Given the description of an element on the screen output the (x, y) to click on. 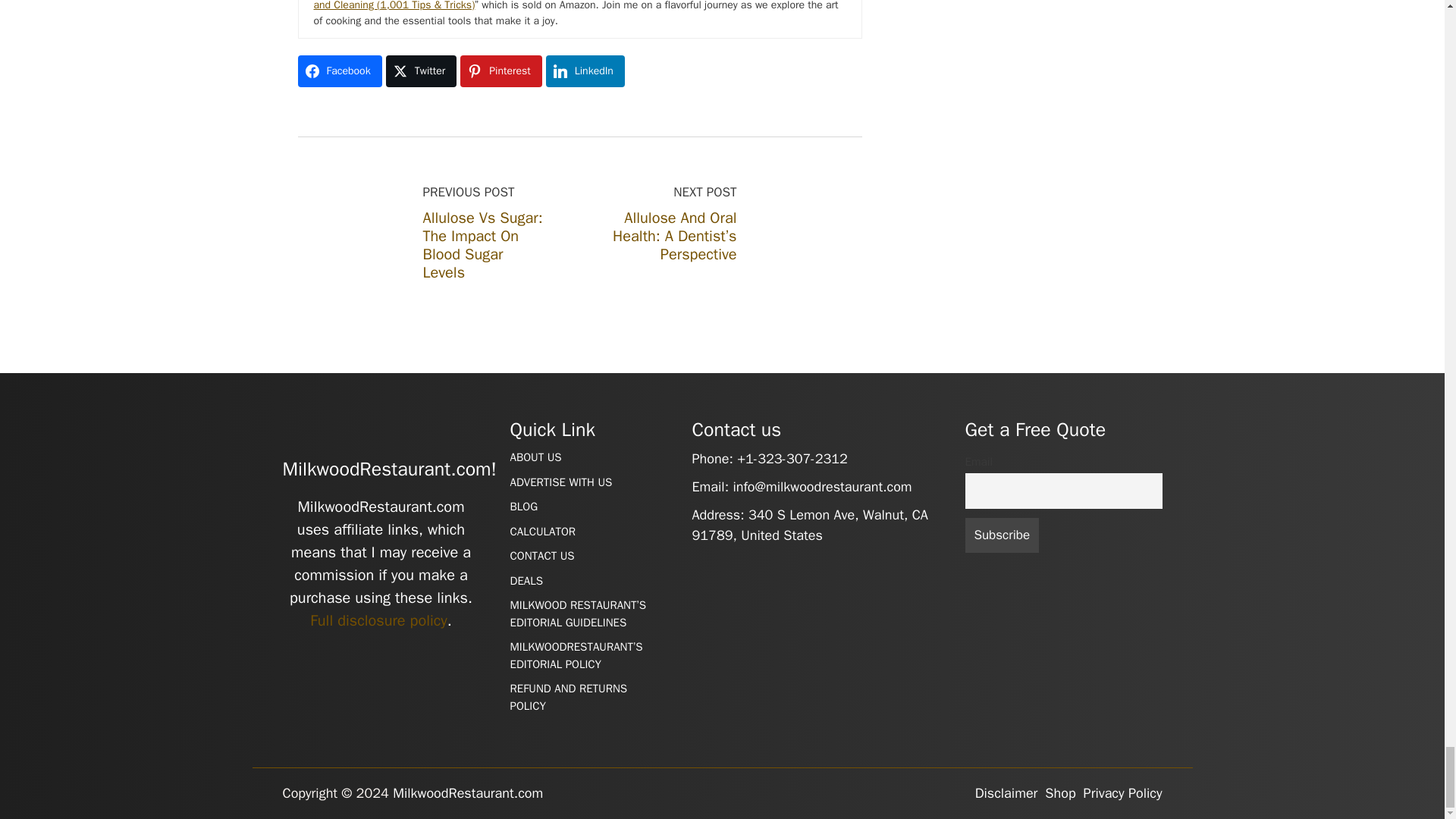
Subscribe (1000, 535)
